Given the description of an element on the screen output the (x, y) to click on. 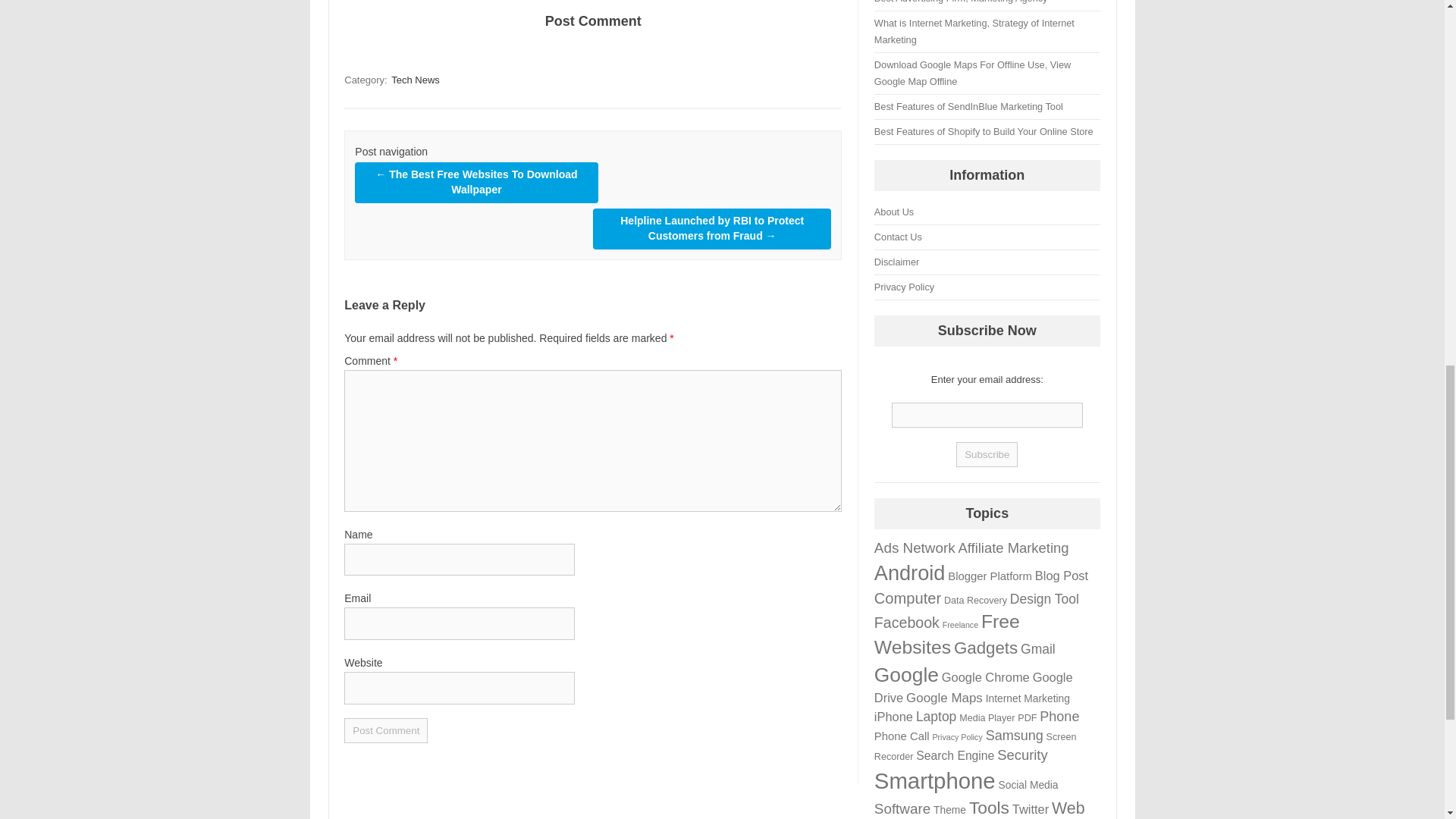
Post Comment (385, 730)
Post Comment (385, 730)
Tech News (415, 79)
Subscribe (986, 454)
Best Advertising Firm, Marketing Agency (961, 2)
